Given the description of an element on the screen output the (x, y) to click on. 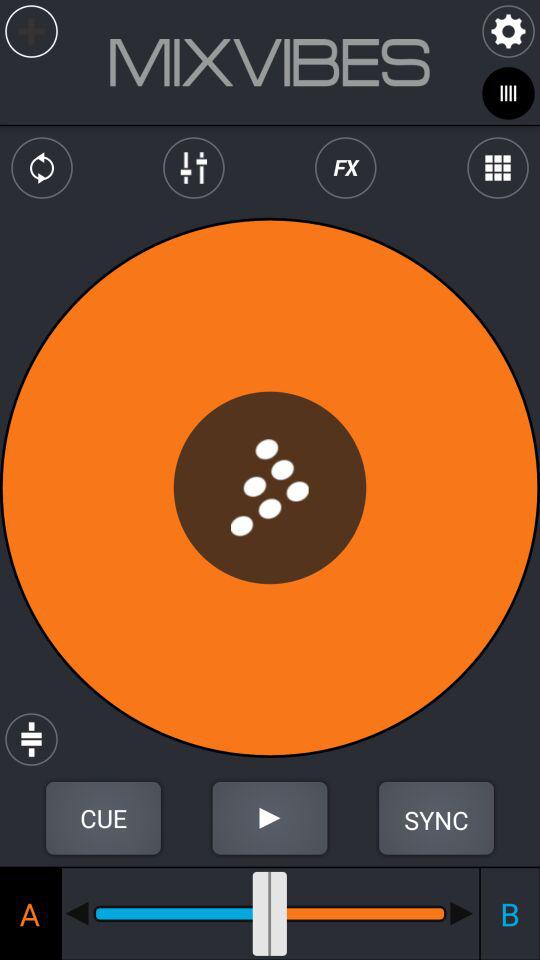
rewind (77, 913)
